Given the description of an element on the screen output the (x, y) to click on. 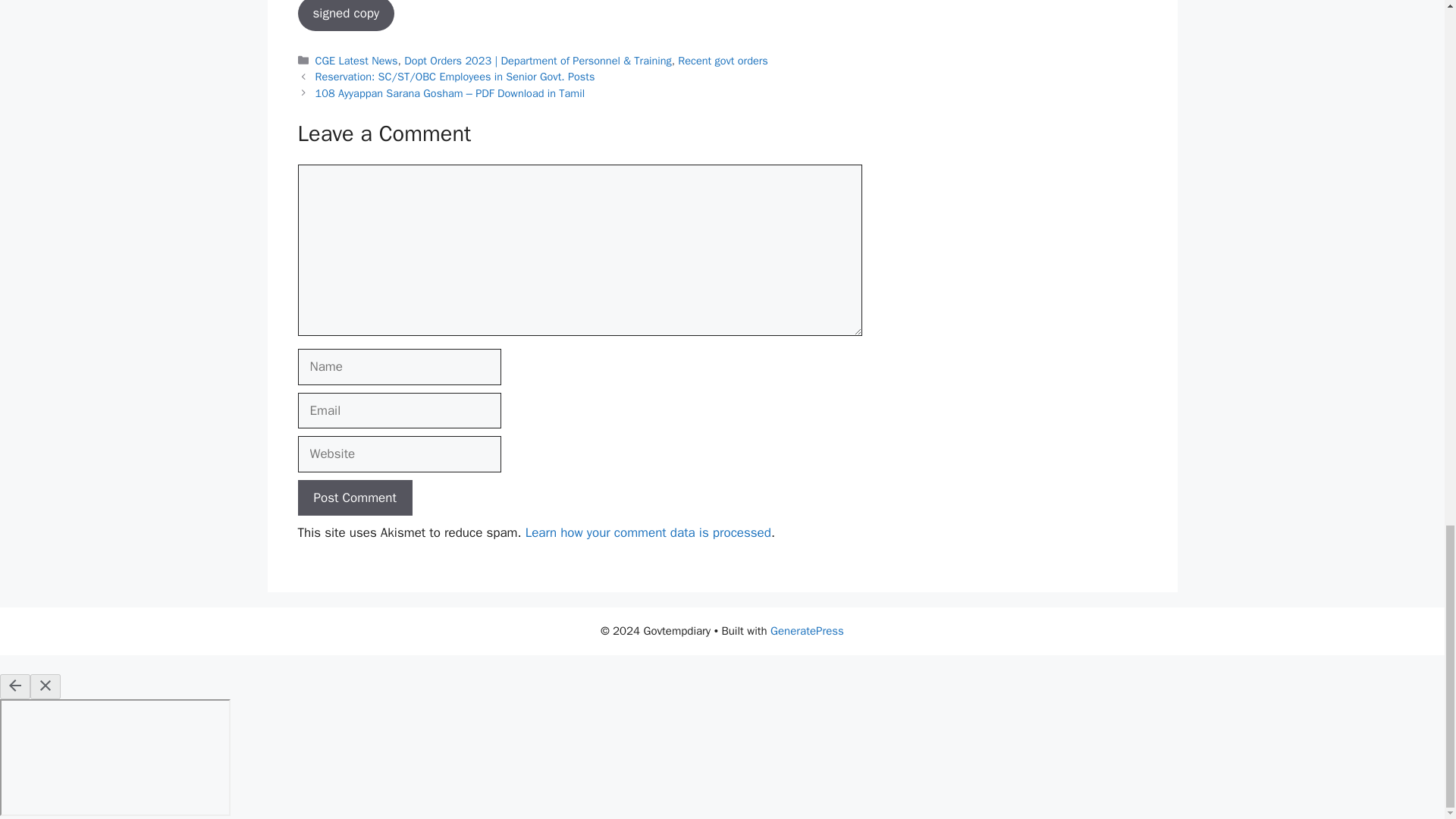
Scroll back to top (1406, 47)
Post Comment (354, 497)
Post Comment (354, 497)
signed copy (345, 15)
CGE Latest News (356, 60)
Learn how your comment data is processed (648, 532)
Recent govt orders (723, 60)
